Given the description of an element on the screen output the (x, y) to click on. 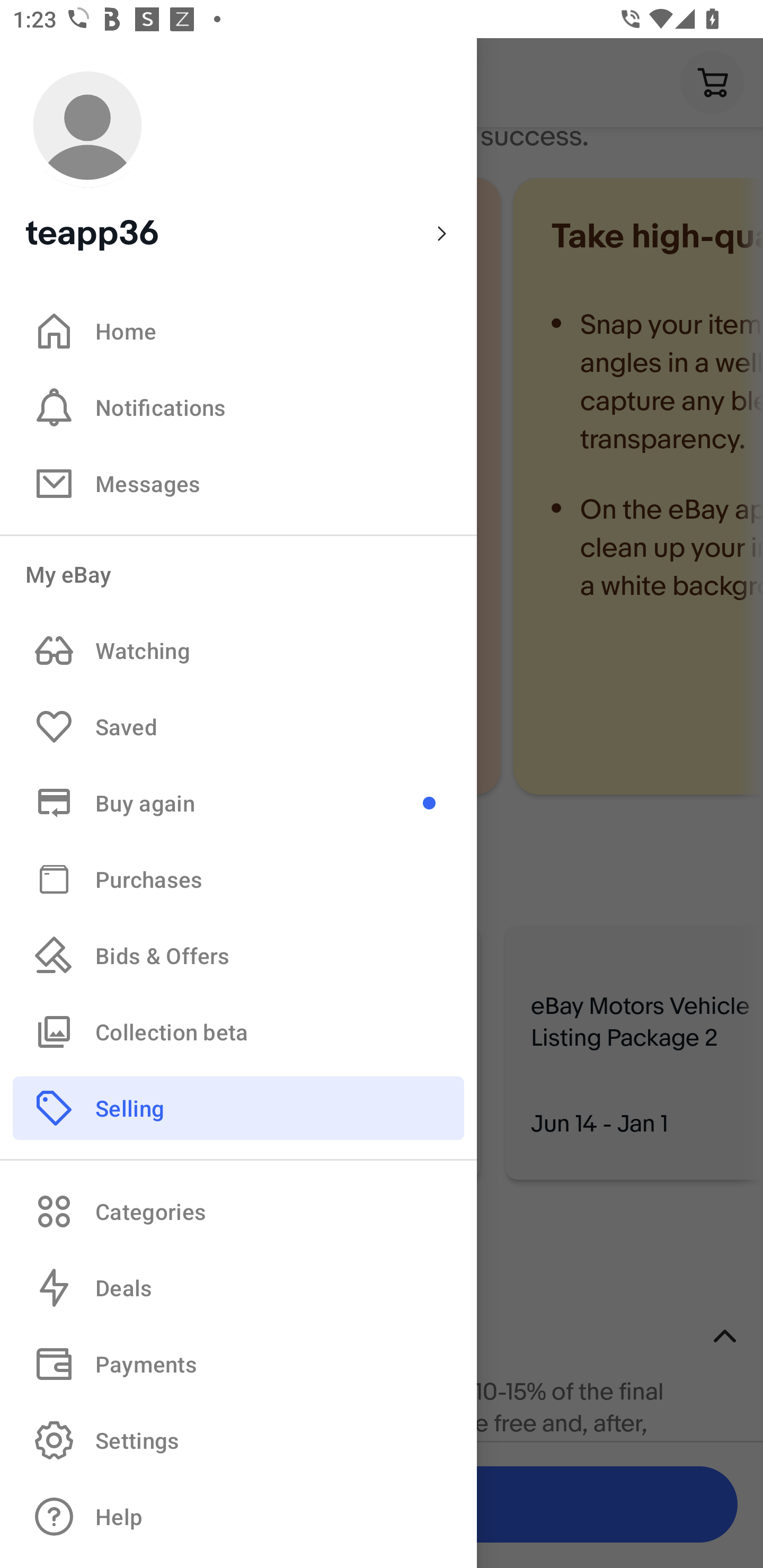
teapp36 (238, 158)
Home (238, 330)
Notifications (238, 406)
Messages (238, 483)
Watching (238, 650)
Saved (238, 726)
Buy again Is new feature (238, 802)
Purchases (238, 878)
Bids & Offers (238, 955)
Collection beta (238, 1031)
Selling (238, 1107)
Categories (238, 1210)
Deals (238, 1287)
Payments (238, 1363)
Settings (238, 1439)
Help (238, 1516)
